Given the description of an element on the screen output the (x, y) to click on. 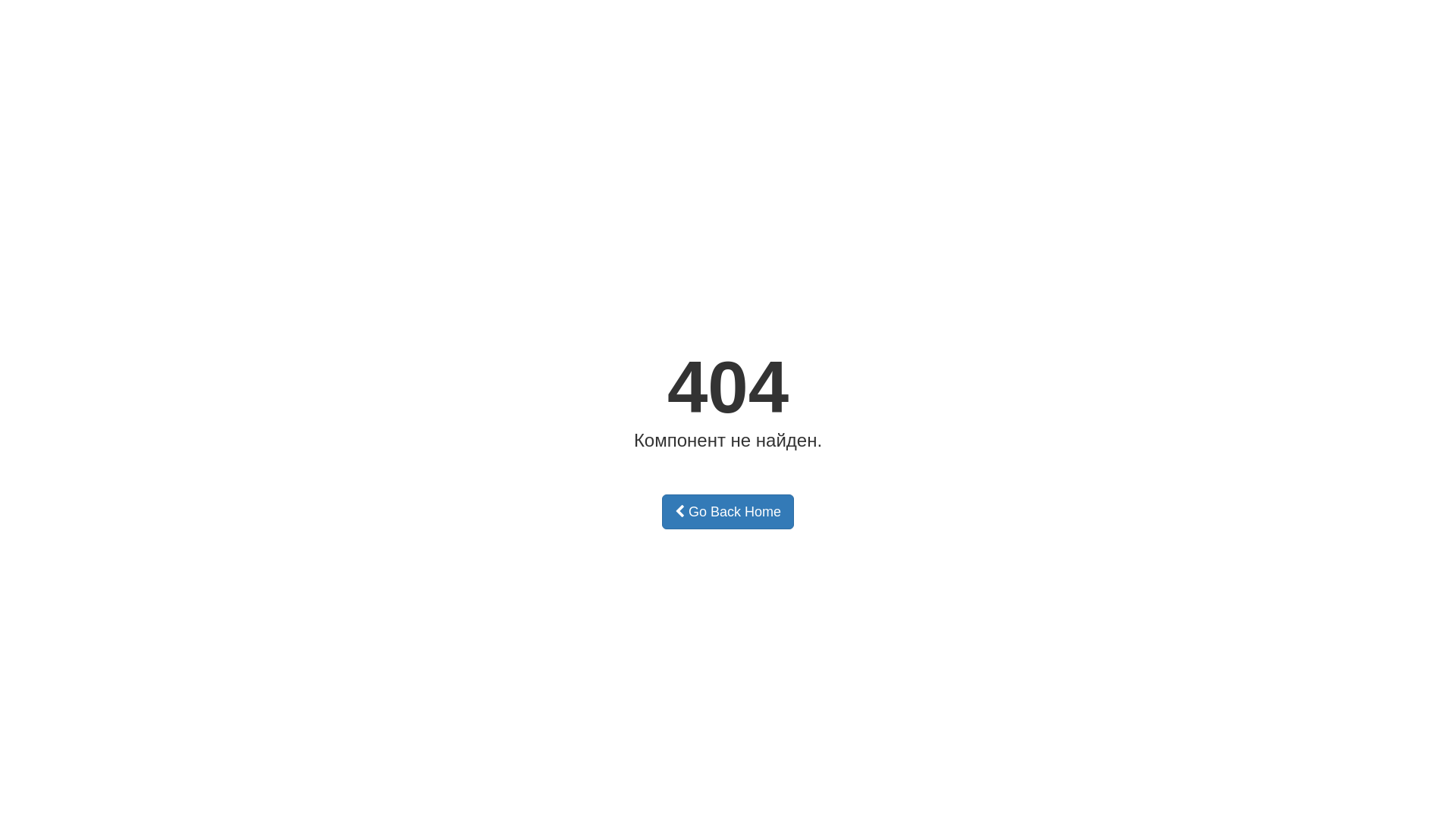
Go Back Home Element type: text (727, 511)
